Given the description of an element on the screen output the (x, y) to click on. 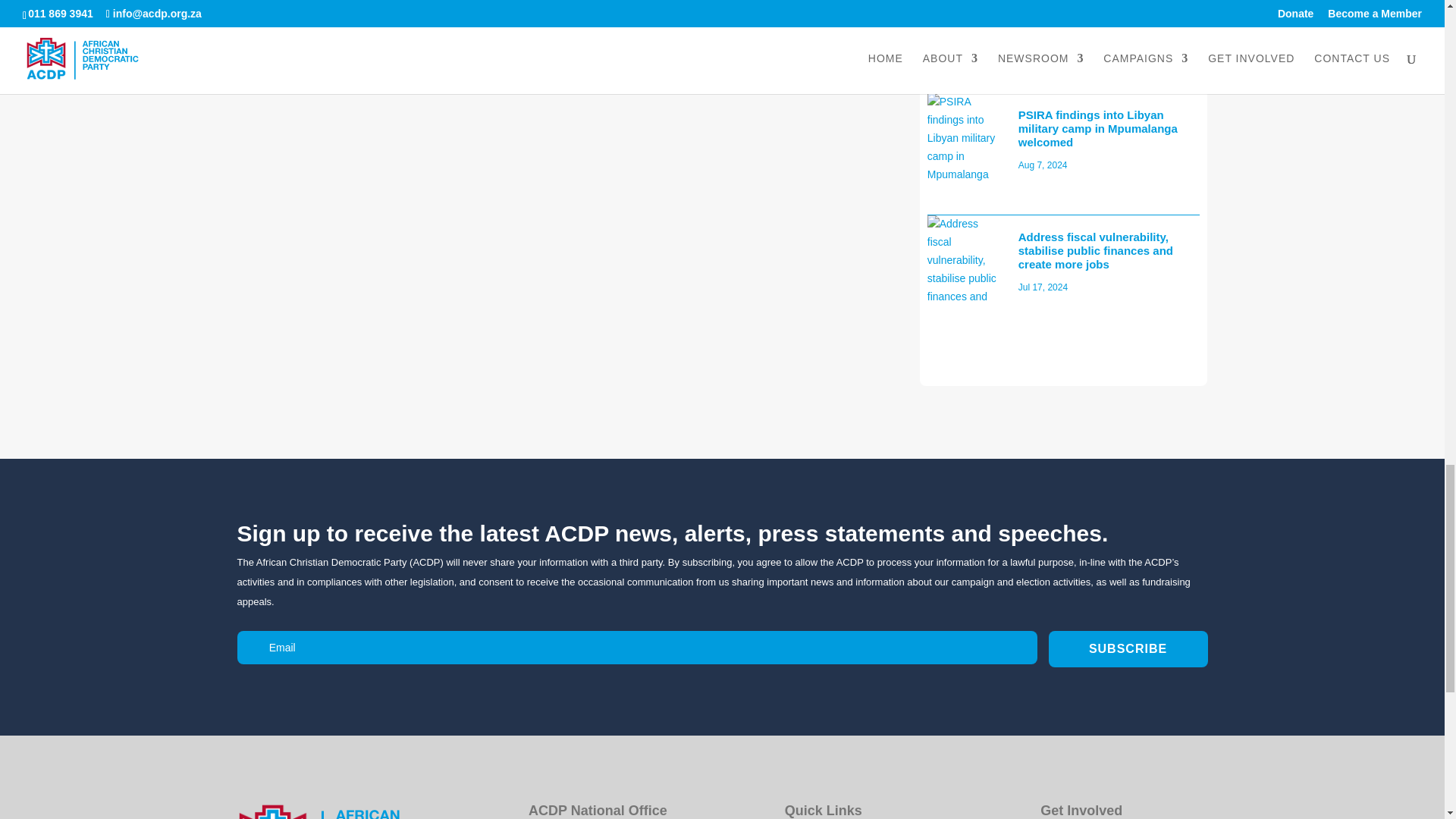
SUBSCRIBE (1127, 648)
